Given the description of an element on the screen output the (x, y) to click on. 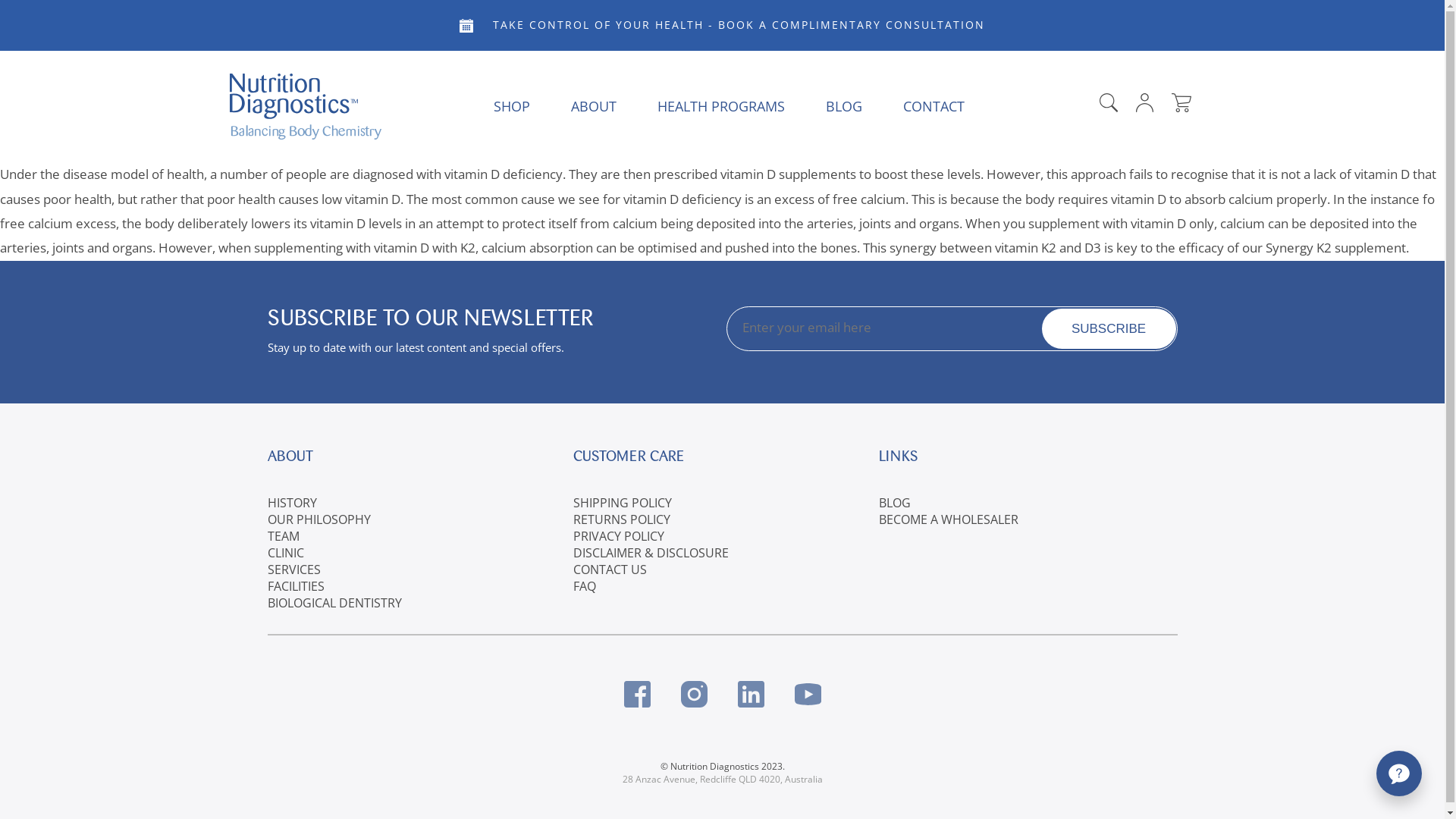
SHOP Element type: text (511, 106)
RETURNS POLICY Element type: text (621, 519)
BECOME A WHOLESALER Element type: text (948, 519)
BLOG Element type: text (843, 106)
SUBSCRIBE Element type: text (1108, 328)
FACILITIES Element type: text (294, 585)
ABOUT Element type: text (593, 106)
SHIPPING POLICY Element type: text (622, 502)
DISCLAIMER & DISCLOSURE Element type: text (650, 552)
CLINIC Element type: text (284, 552)
BIOLOGICAL DENTISTRY Element type: text (333, 602)
 WE SHIP INTERNATIONALLY Element type: text (722, 25)
HISTORY Element type: text (291, 502)
TEAM Element type: text (282, 535)
CONTACT Element type: text (933, 106)
HEALTH PROGRAMS Element type: text (721, 106)
SERVICES Element type: text (293, 569)
BLOG Element type: text (894, 502)
CONTACT US Element type: text (609, 569)
PRIVACY POLICY Element type: text (618, 535)
1 Element type: text (1072, 218)
FAQ Element type: text (584, 585)
OUR PHILOSOPHY Element type: text (318, 519)
